Given the description of an element on the screen output the (x, y) to click on. 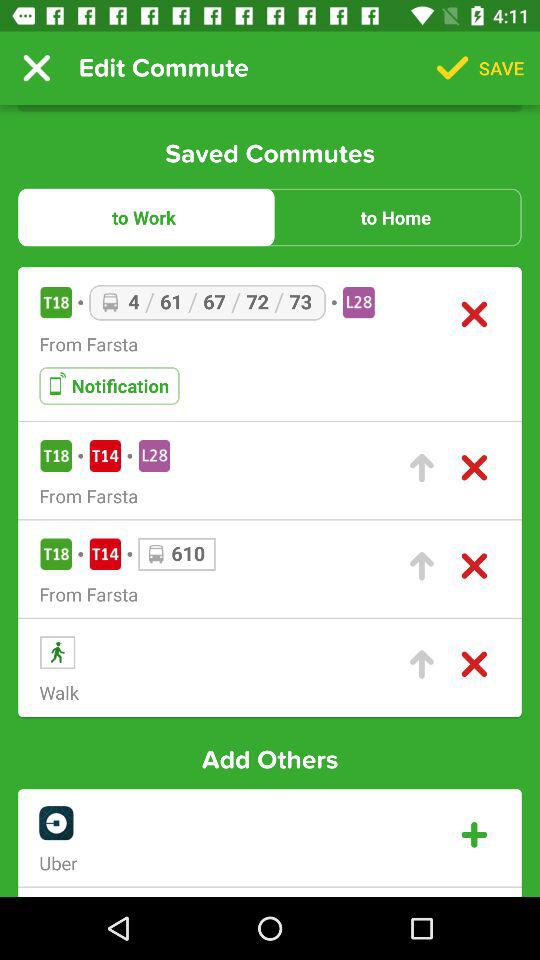
delete saved entry (474, 467)
